Given the description of an element on the screen output the (x, y) to click on. 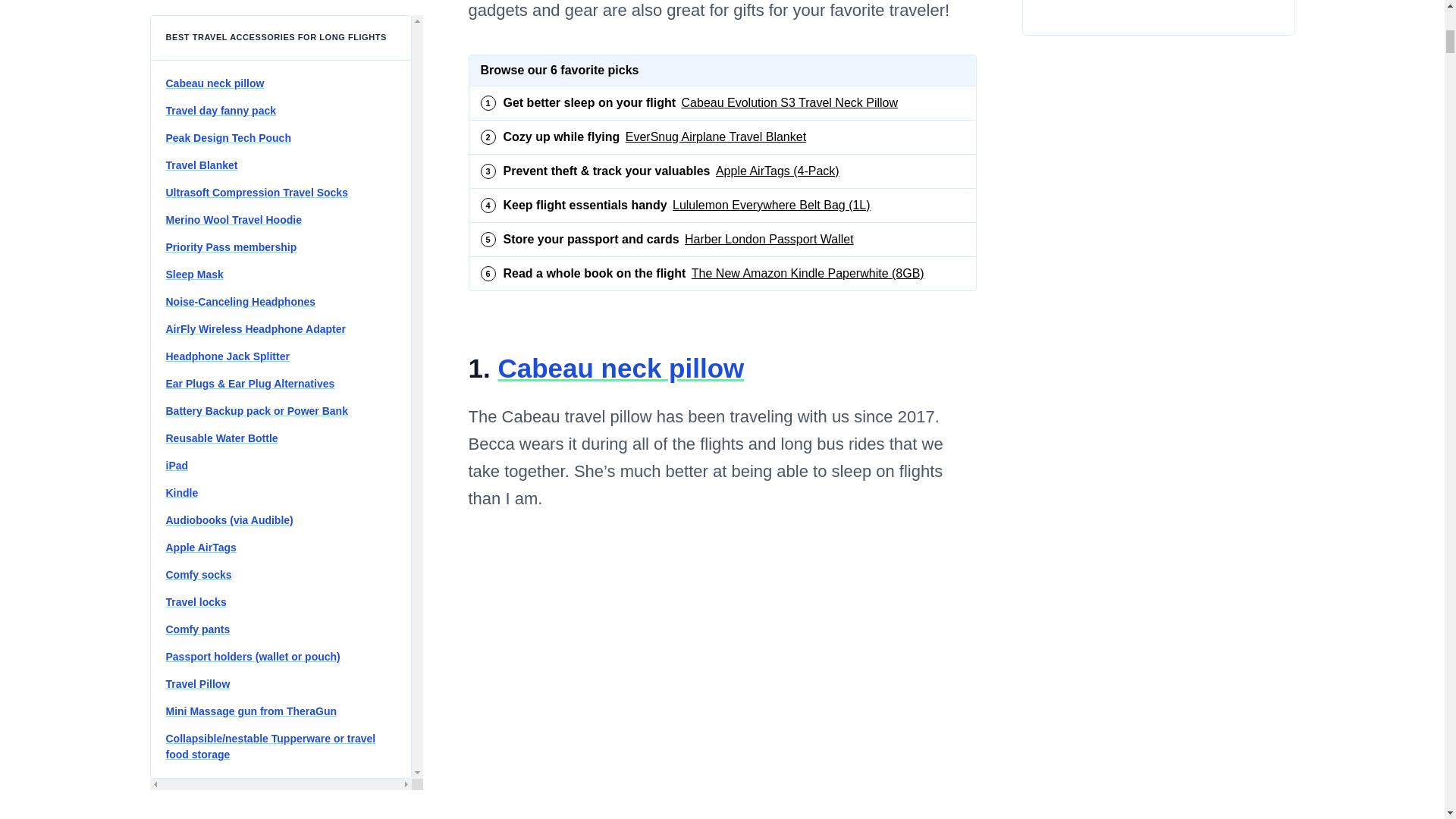
Affiliate Link (721, 136)
Affiliate Link (721, 272)
Affiliate Link (721, 103)
Affiliate Link (721, 171)
Affiliate Link (721, 204)
Affiliate Link (721, 239)
Affiliate Link (620, 367)
